Given the description of an element on the screen output the (x, y) to click on. 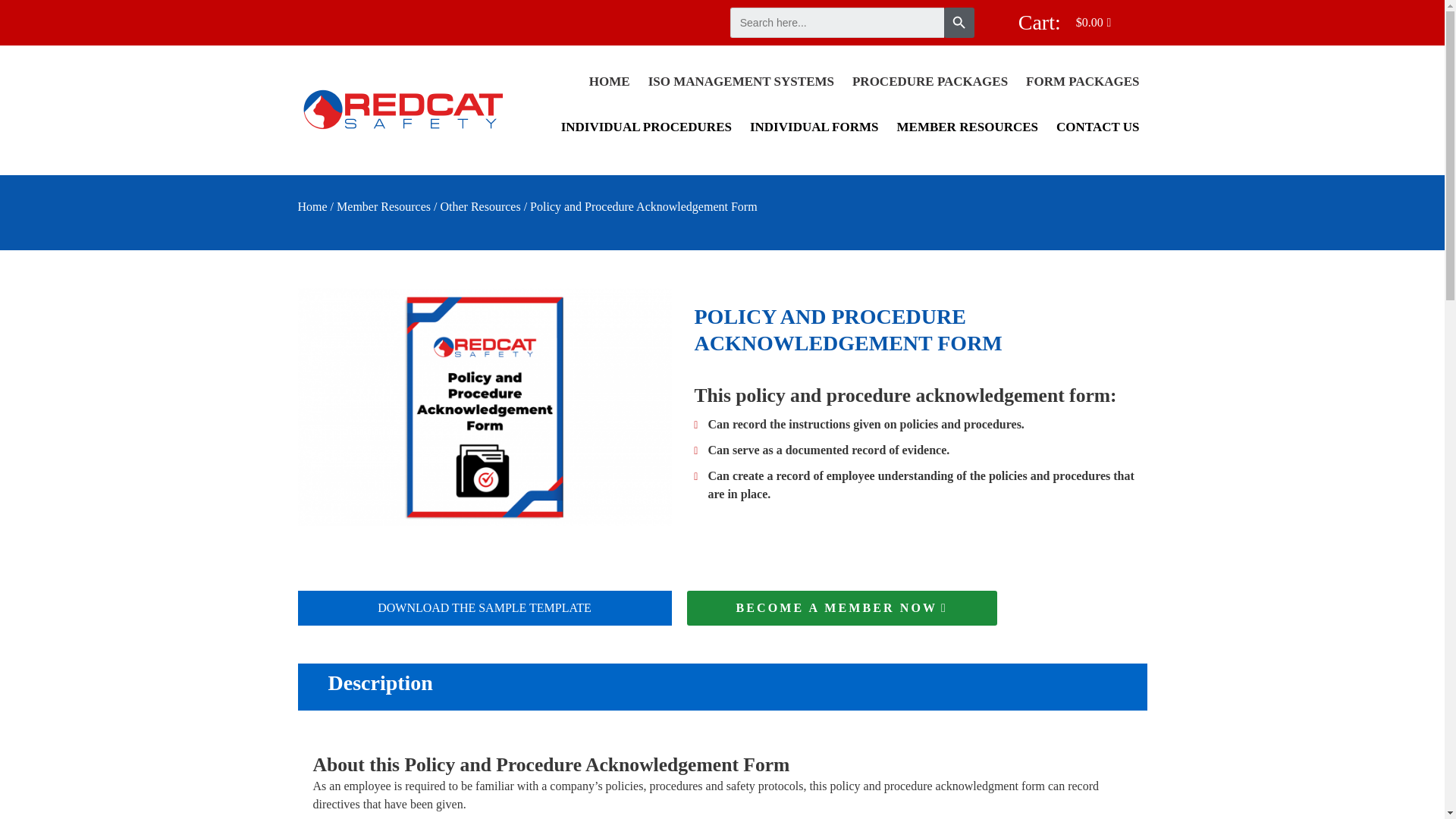
PROCEDURE PACKAGES (929, 81)
FORM PACKAGES (1082, 81)
Policy and Procedure Acknowledgement Form (484, 407)
HOME (608, 81)
Search Button (958, 22)
ISO MANAGEMENT SYSTEMS (740, 81)
